Given the description of an element on the screen output the (x, y) to click on. 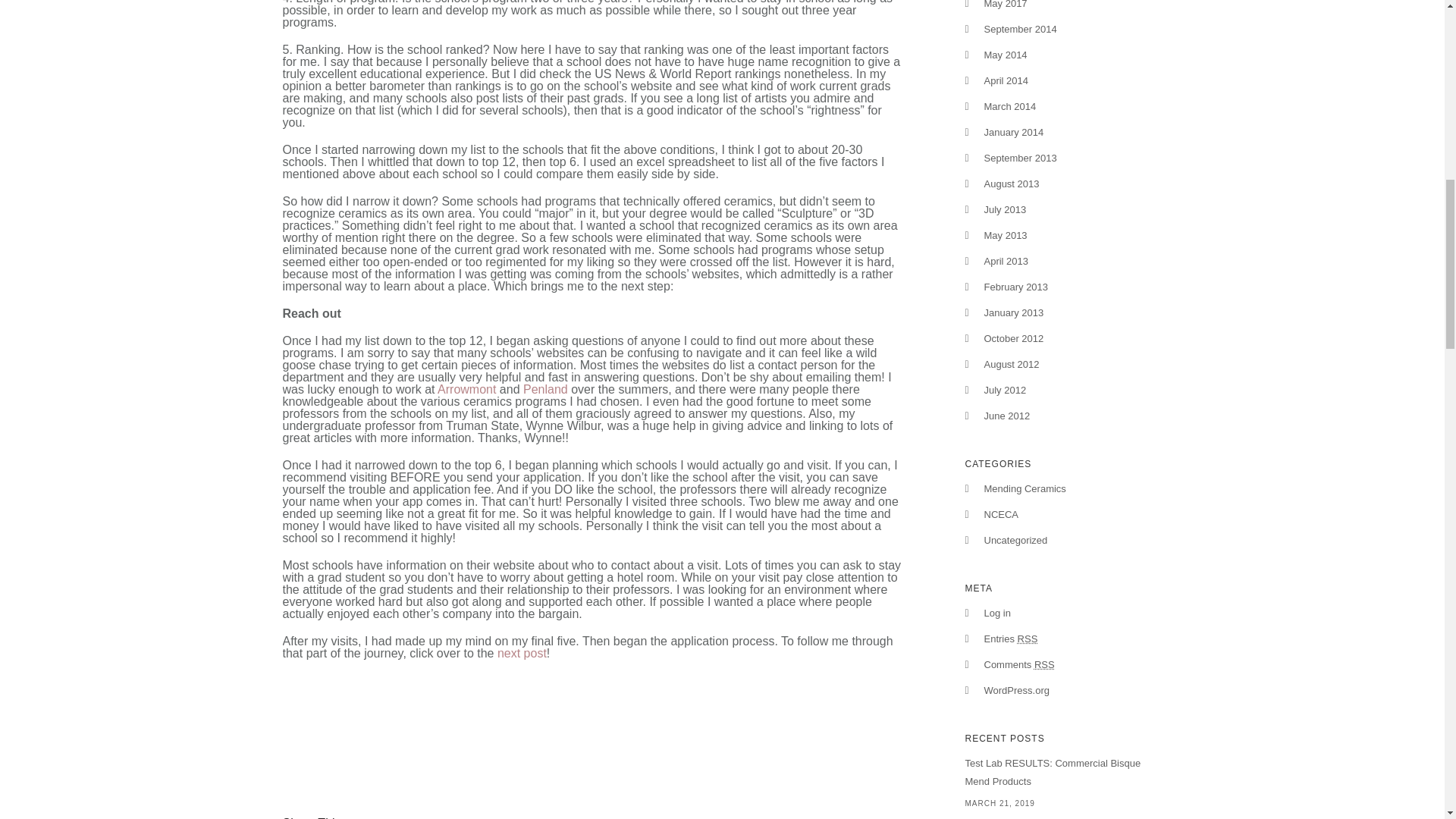
Penland (544, 389)
Test Lab RESULTS: Commercial Bisque Mend Products (1062, 772)
Really Simple Syndication (1043, 664)
Really Simple Syndication (1027, 638)
Arrowmont (467, 389)
next post (522, 653)
